Given the description of an element on the screen output the (x, y) to click on. 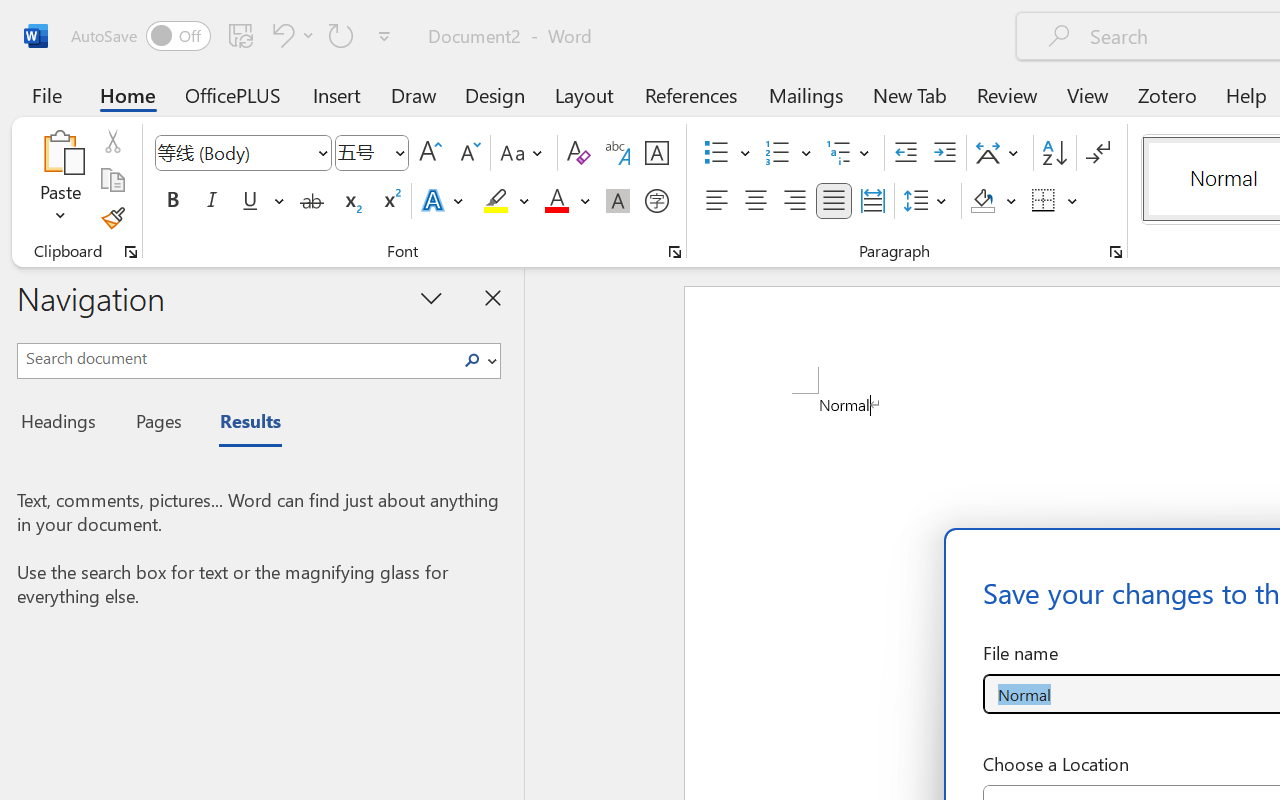
New Tab (909, 94)
Paste (60, 151)
Review (1007, 94)
Undo Apply Quick Style (290, 35)
Sort... (1054, 153)
Font (234, 152)
File Tab (46, 94)
Text Highlight Color Yellow (495, 201)
Search (478, 360)
Line and Paragraph Spacing (927, 201)
Text Effects and Typography (444, 201)
Class: NetUIImage (471, 360)
Task Pane Options (431, 297)
Multilevel List (850, 153)
